Given the description of an element on the screen output the (x, y) to click on. 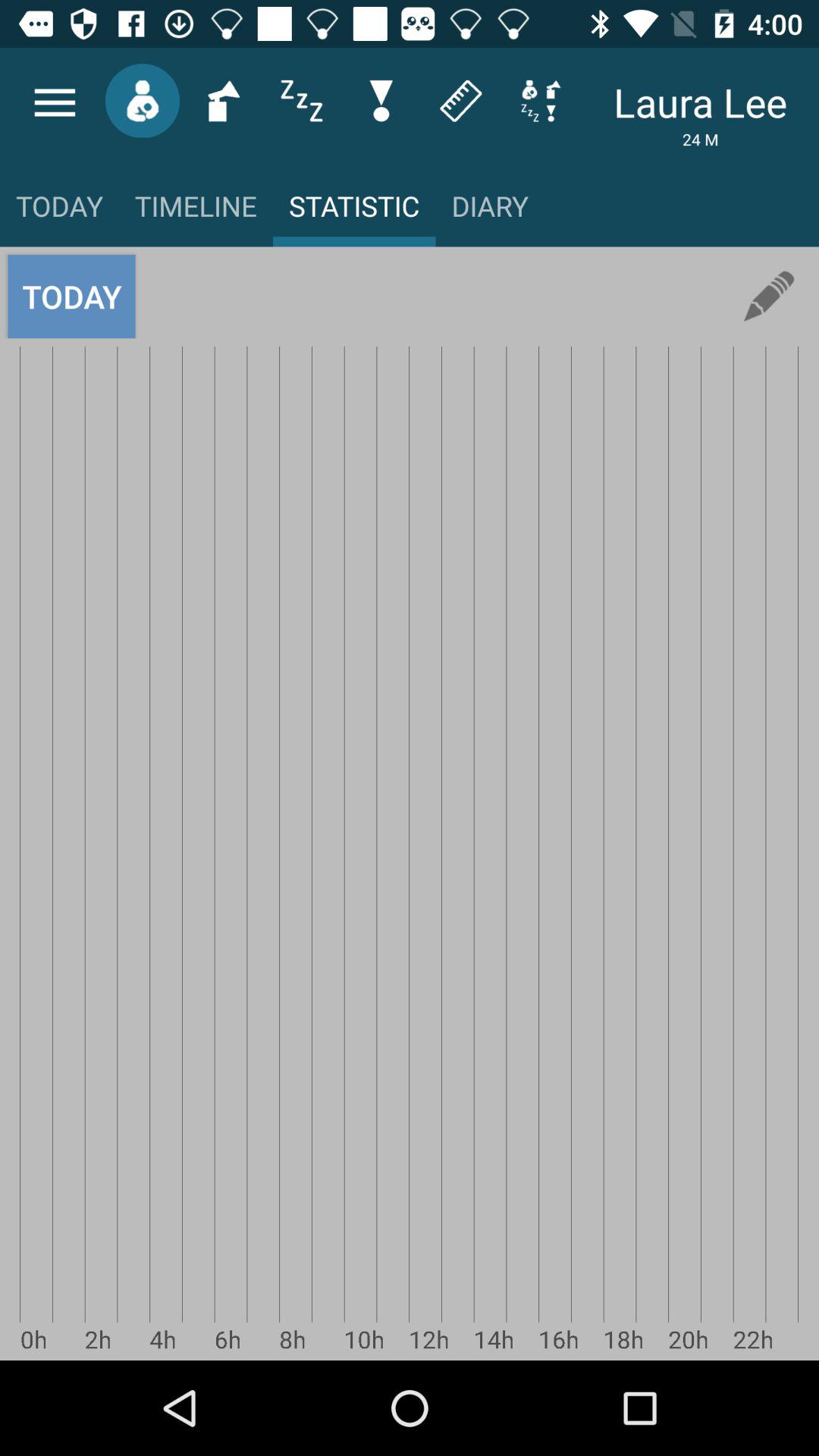
turn off icon next to diary (769, 296)
